Given the description of an element on the screen output the (x, y) to click on. 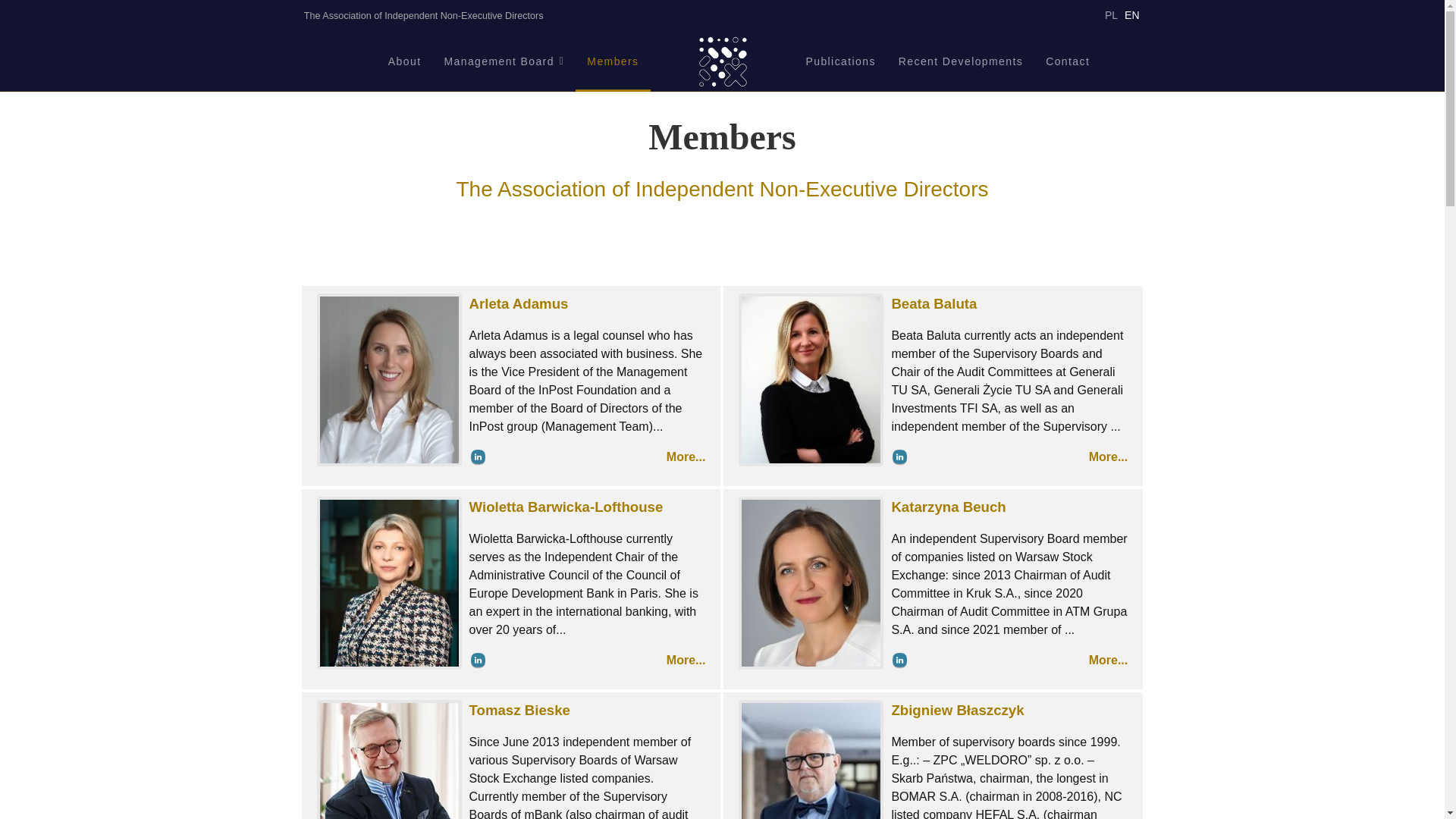
More... (686, 456)
Contact (1066, 61)
Recent Developments (959, 61)
EN (1131, 15)
About (404, 61)
PL (1111, 15)
More... (1108, 456)
Members (612, 61)
More... (1108, 659)
Management Board (503, 61)
